Given the description of an element on the screen output the (x, y) to click on. 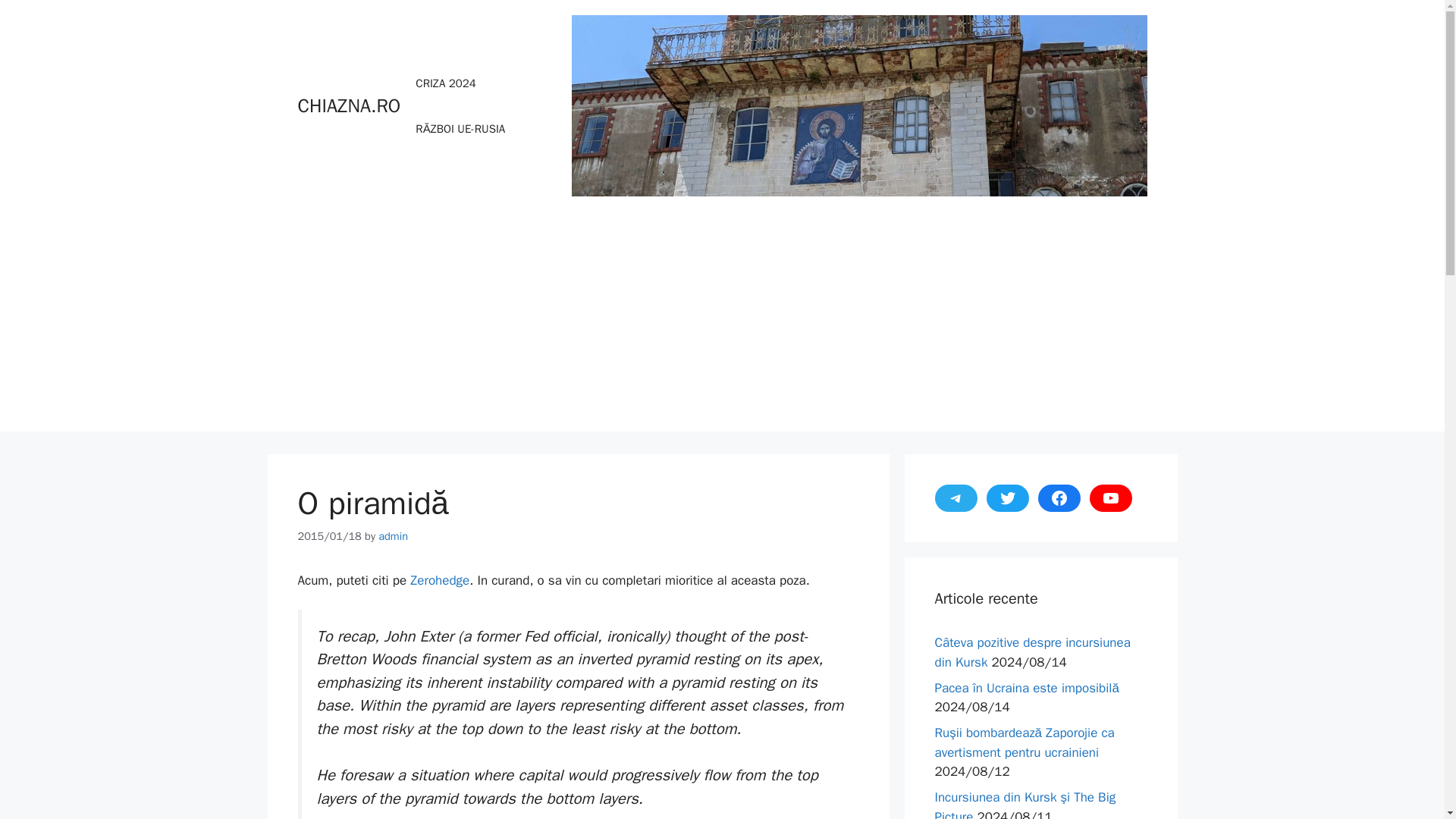
Telegram (955, 497)
CRIZA 2024 (445, 83)
Facebook (1058, 497)
View all posts by admin (392, 535)
admin (392, 535)
Zerohedge (439, 580)
CHIAZNA.RO (348, 105)
Twitter (1006, 497)
YouTube (1110, 497)
